Given the description of an element on the screen output the (x, y) to click on. 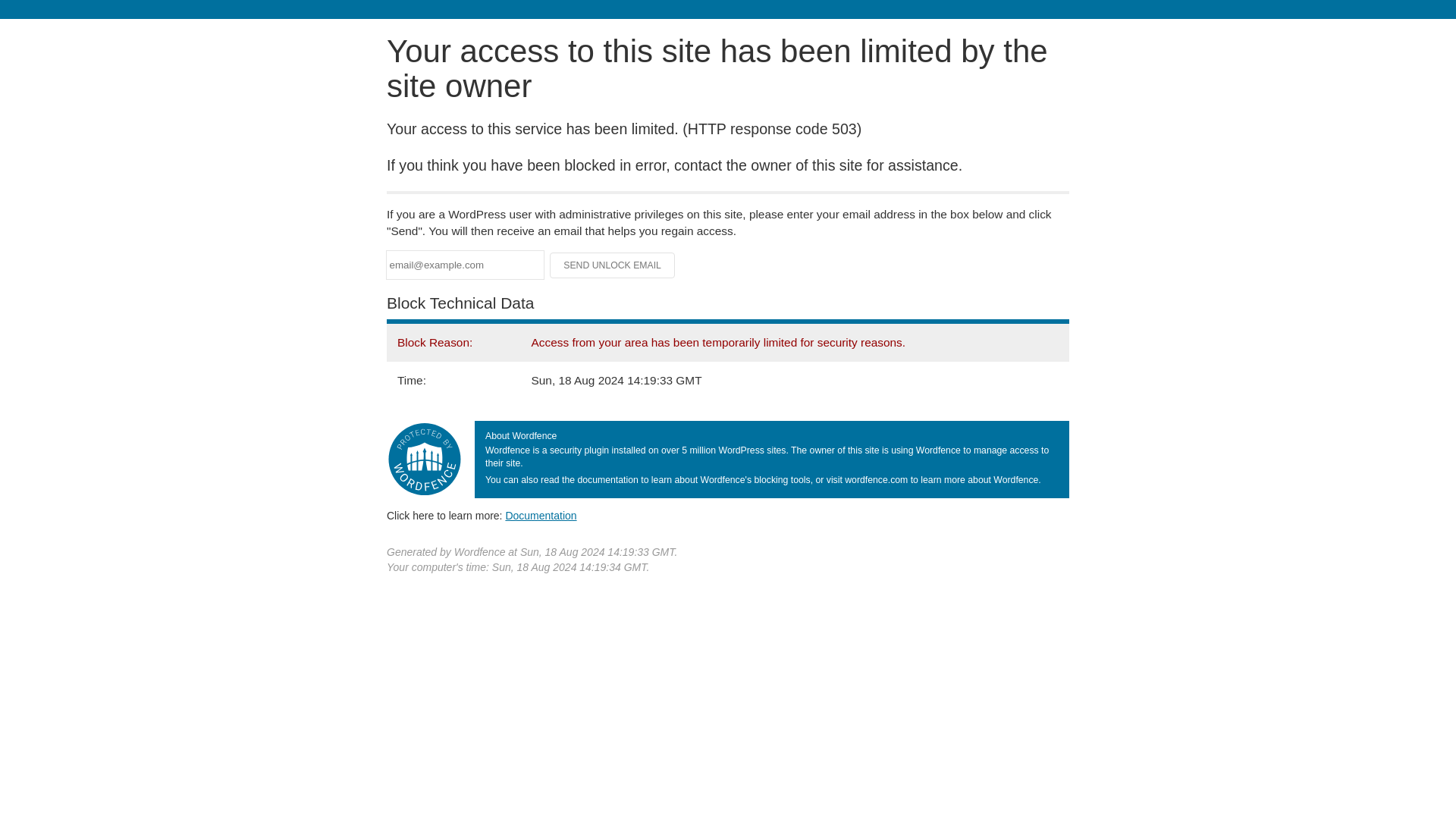
Documentation (540, 515)
Send Unlock Email (612, 265)
Send Unlock Email (612, 265)
